Given the description of an element on the screen output the (x, y) to click on. 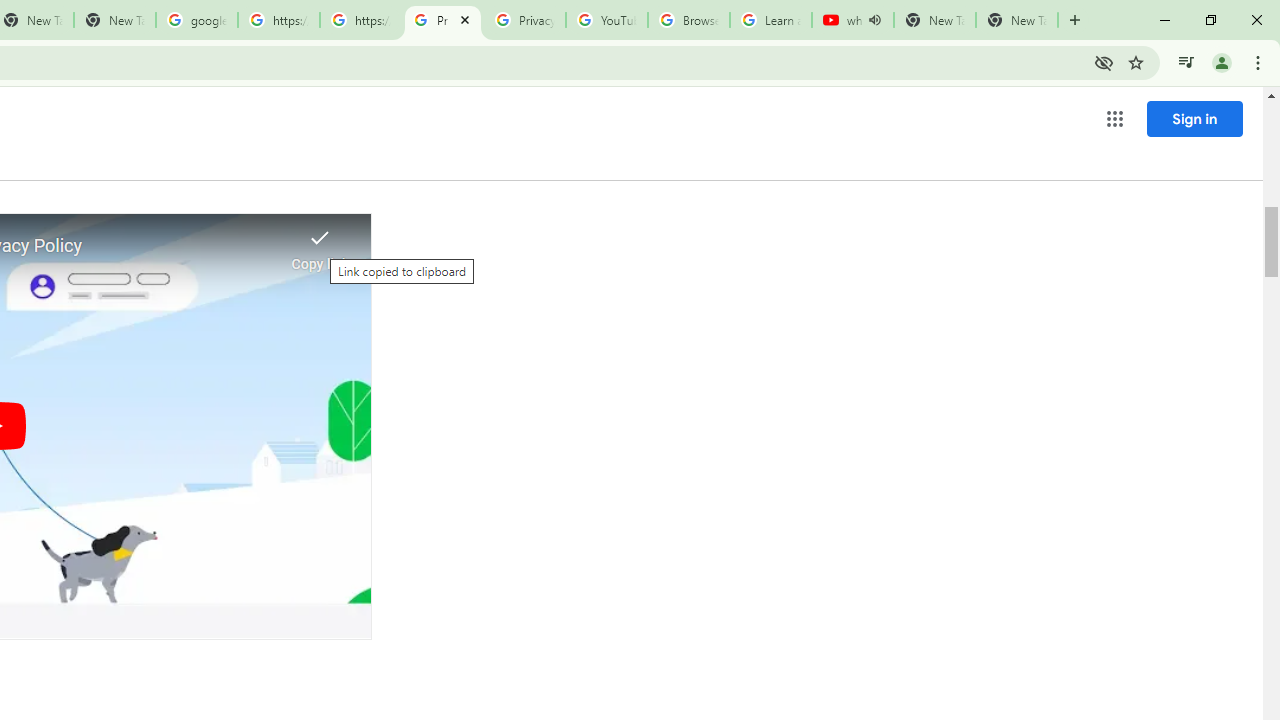
New Tab (1016, 20)
Mute tab (874, 20)
Link copied to clipboard (319, 244)
https://scholar.google.com/ (278, 20)
Browse Chrome as a guest - Computer - Google Chrome Help (688, 20)
